Given the description of an element on the screen output the (x, y) to click on. 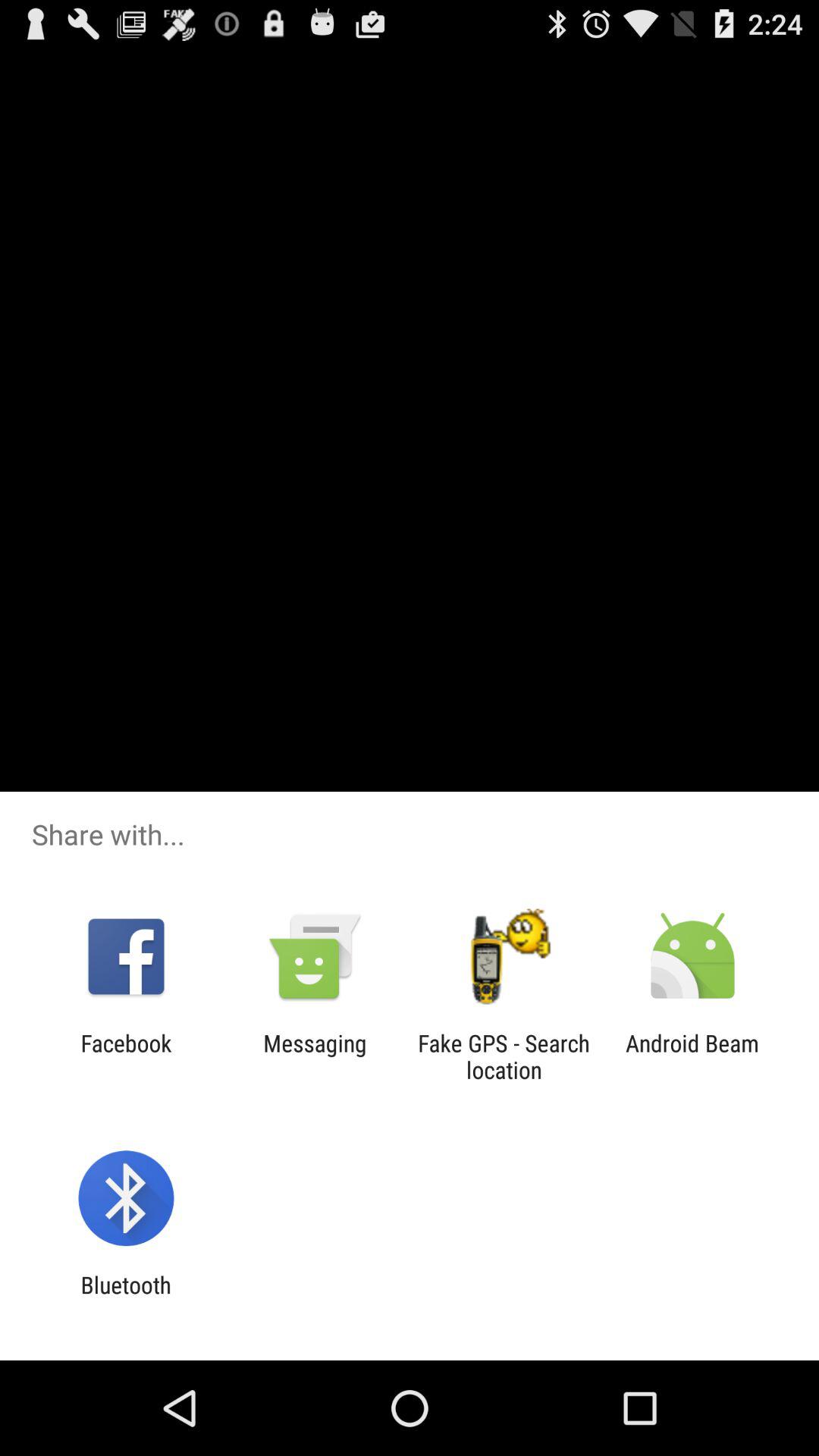
turn on the item to the right of the facebook icon (314, 1056)
